Given the description of an element on the screen output the (x, y) to click on. 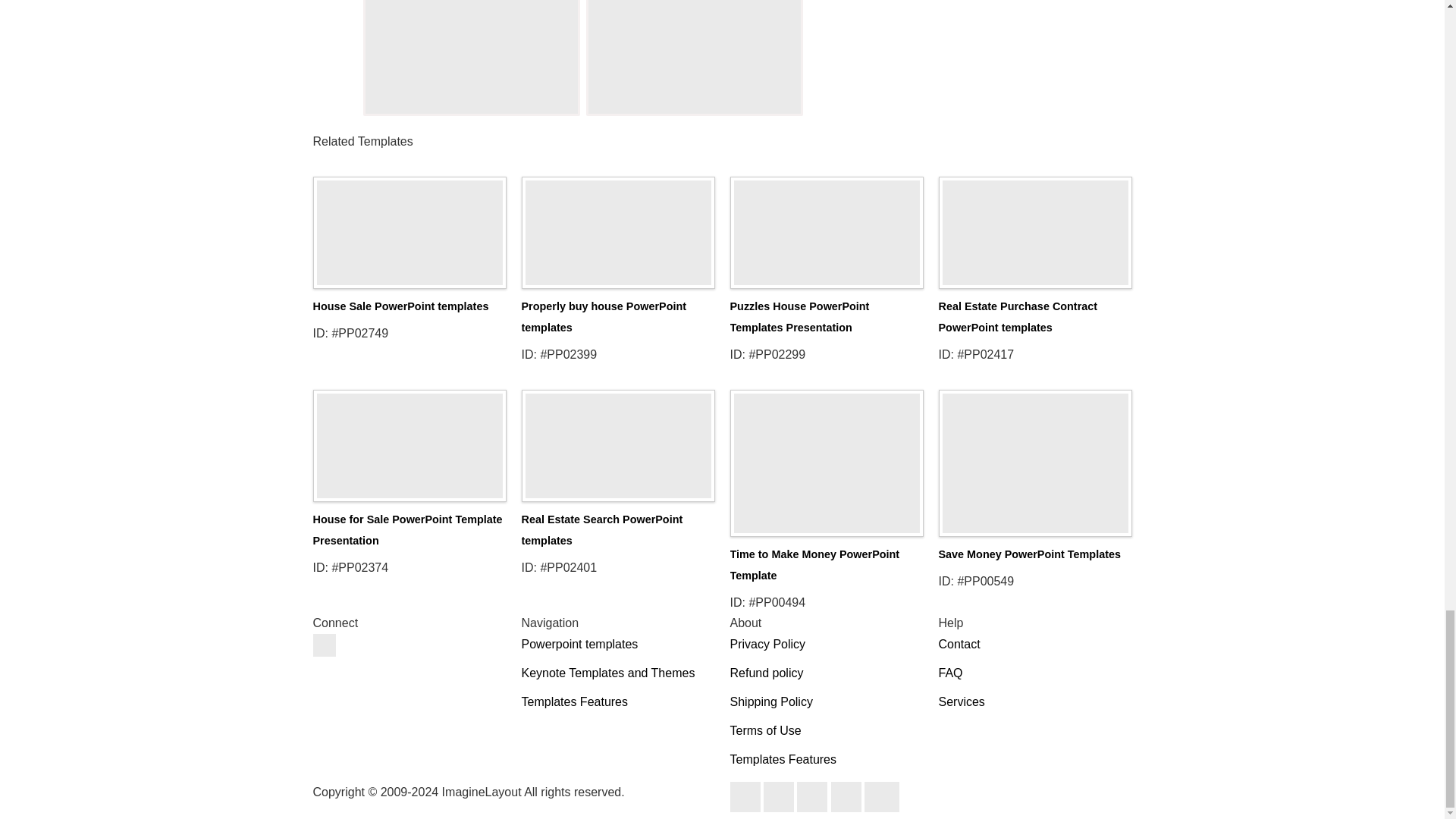
House Sale PowerPoint templates (409, 227)
